Given the description of an element on the screen output the (x, y) to click on. 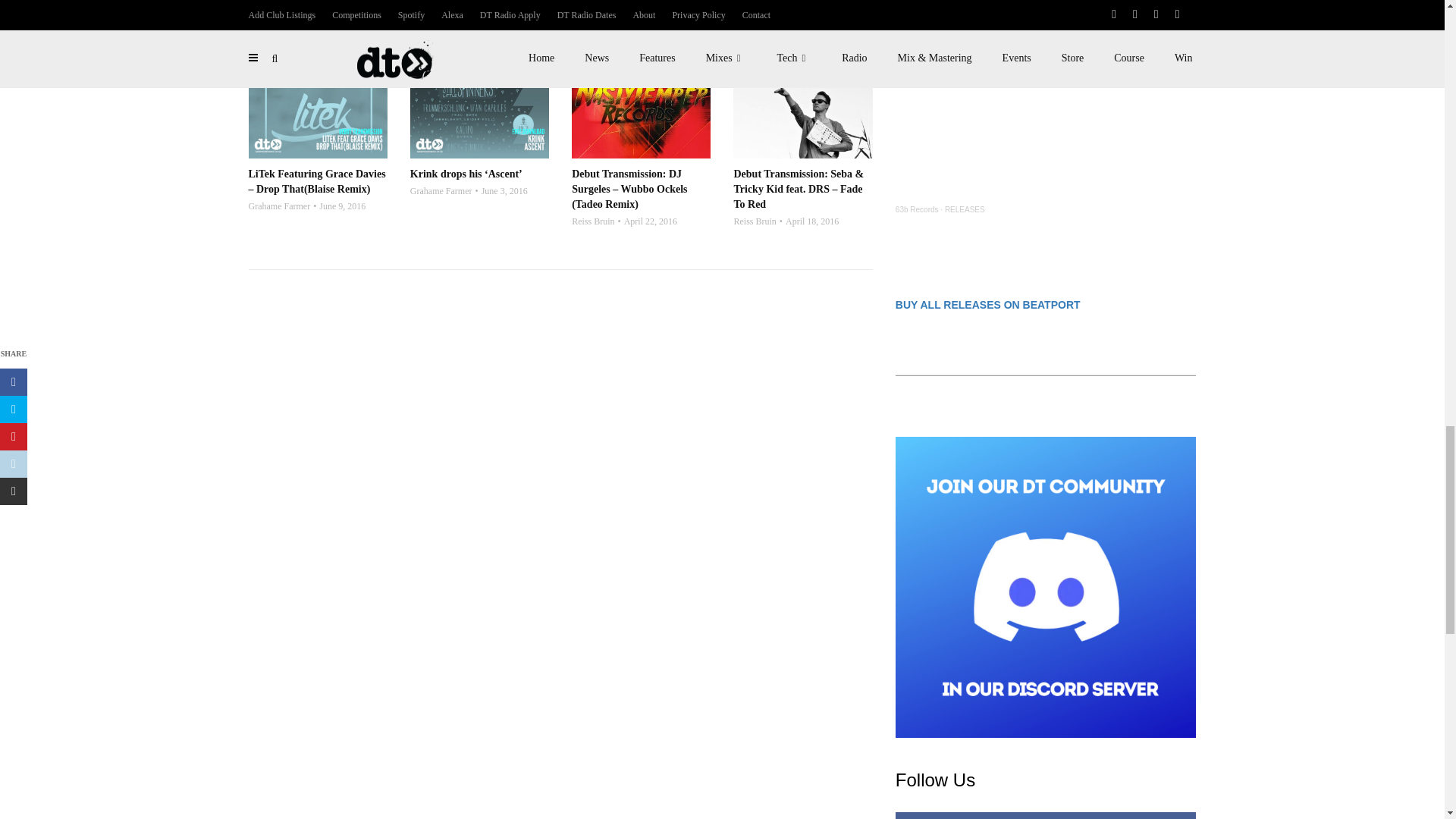
63b Records (917, 209)
RELEASES (964, 209)
